Given the description of an element on the screen output the (x, y) to click on. 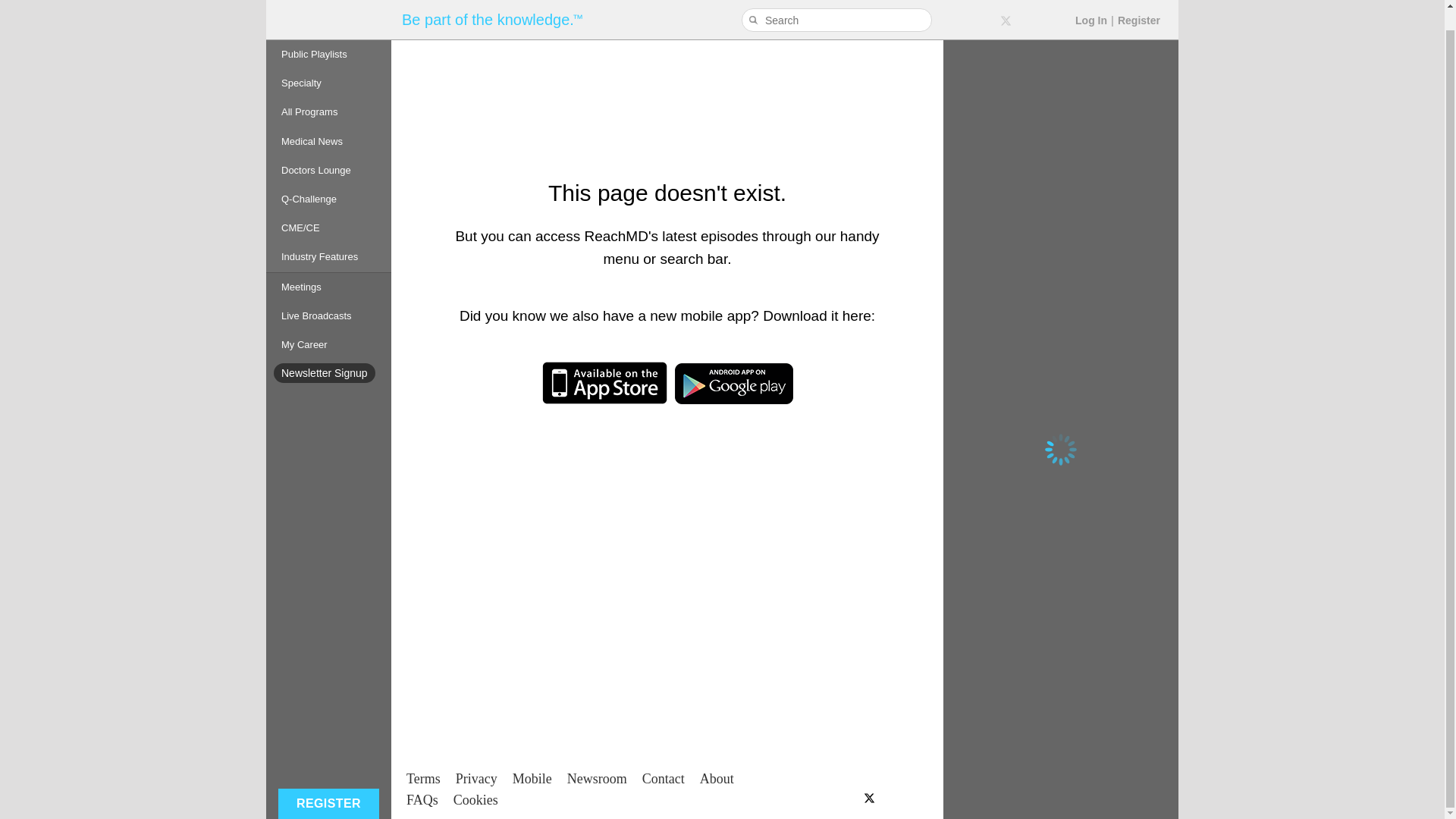
Search (754, 3)
All Programs (328, 92)
Instagram (1055, 6)
Linked in (1030, 6)
Facebook (980, 6)
Register (1139, 3)
Public Playlists (328, 34)
Log In (1090, 3)
Twitter (1004, 6)
ReachMD (328, 10)
